Given the description of an element on the screen output the (x, y) to click on. 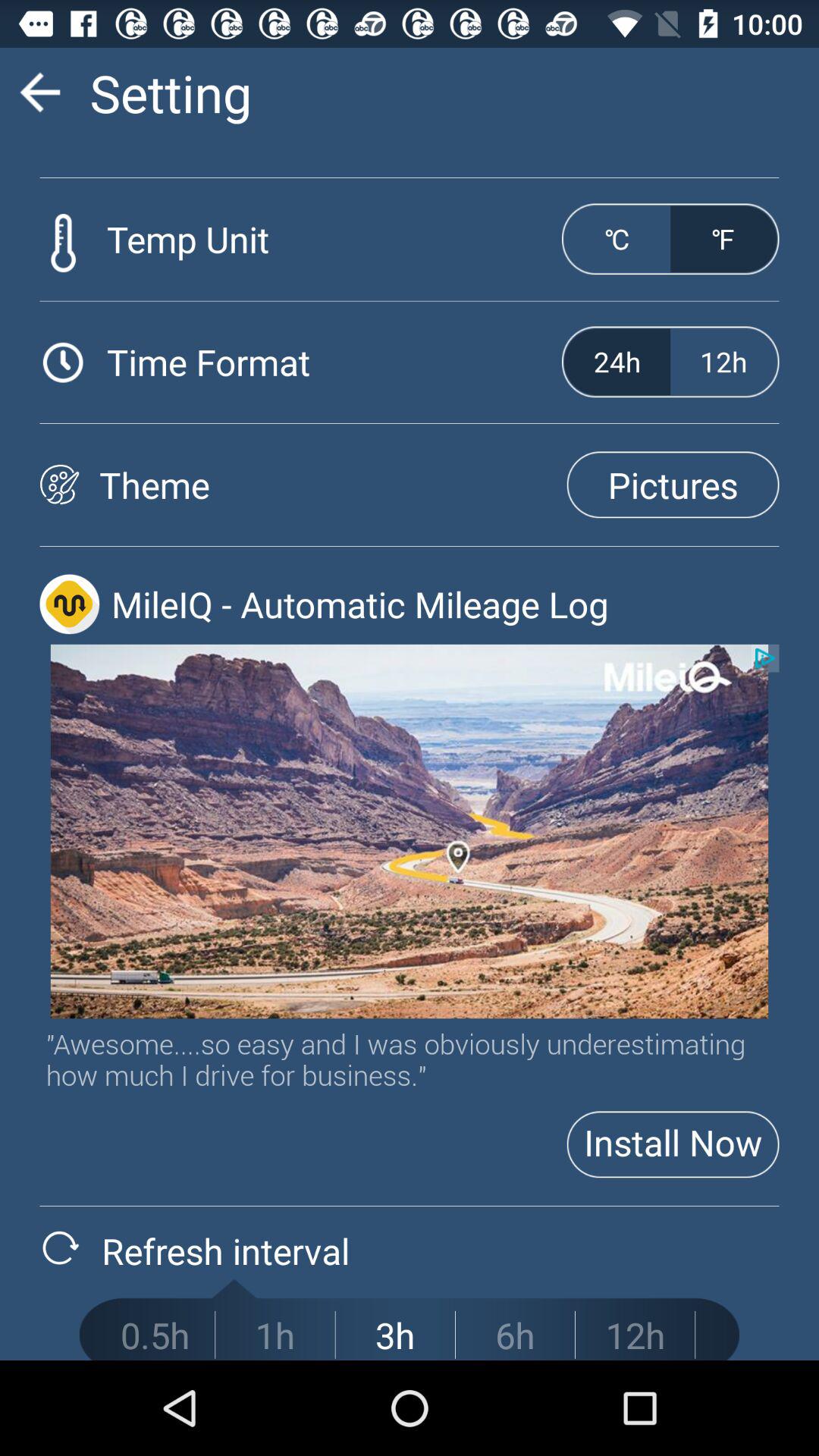
go do rading (39, 92)
